Given the description of an element on the screen output the (x, y) to click on. 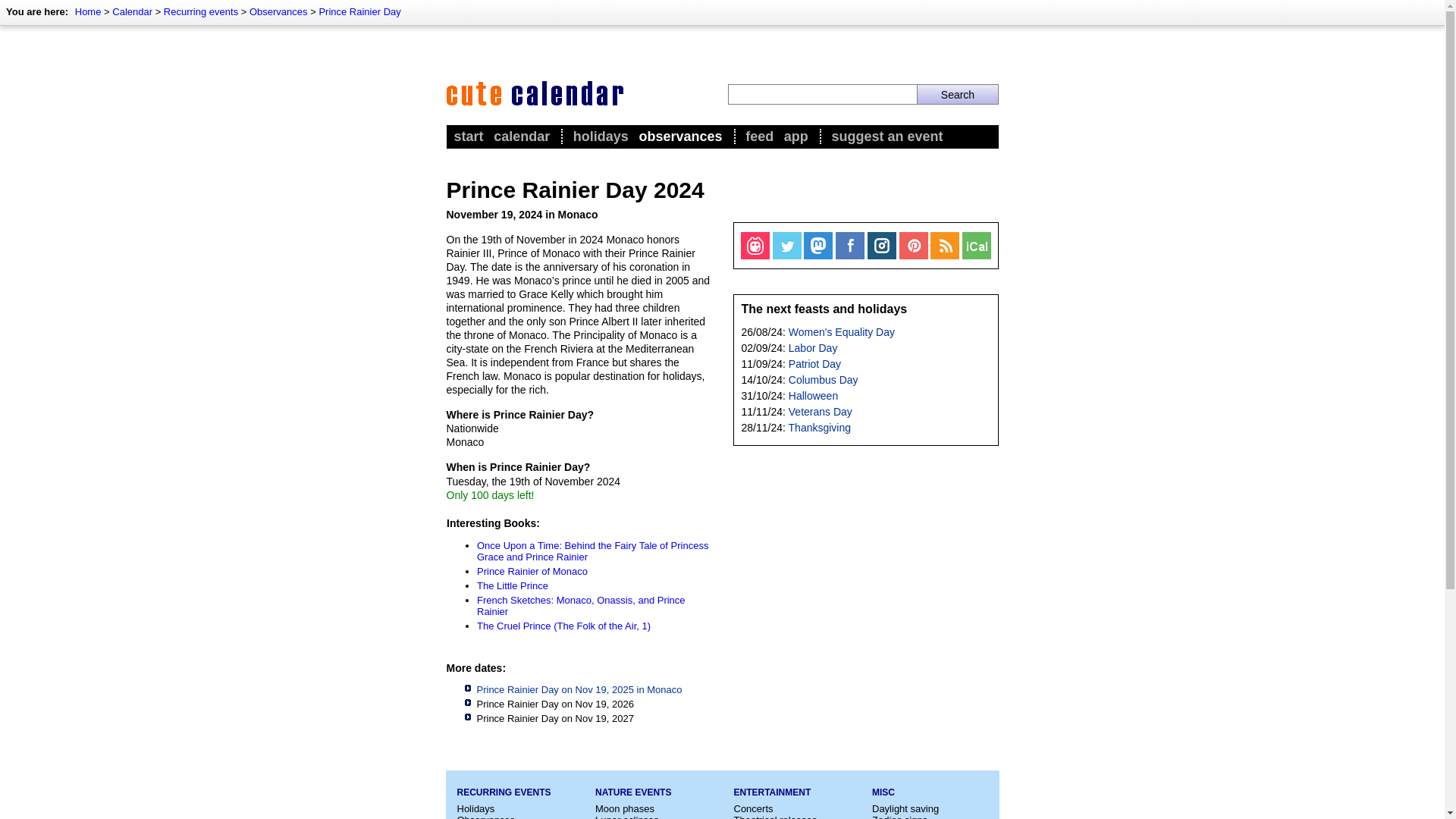
Recurring events (200, 11)
Halloween (813, 395)
Labor Day (813, 347)
Lunar eclipses (627, 816)
Prince Rainier Day (359, 11)
Moon phases (624, 808)
Search (957, 94)
Veterans Day (820, 411)
Search (957, 94)
Prince Rainier Day 2025 in Monaco (578, 689)
